Given the description of an element on the screen output the (x, y) to click on. 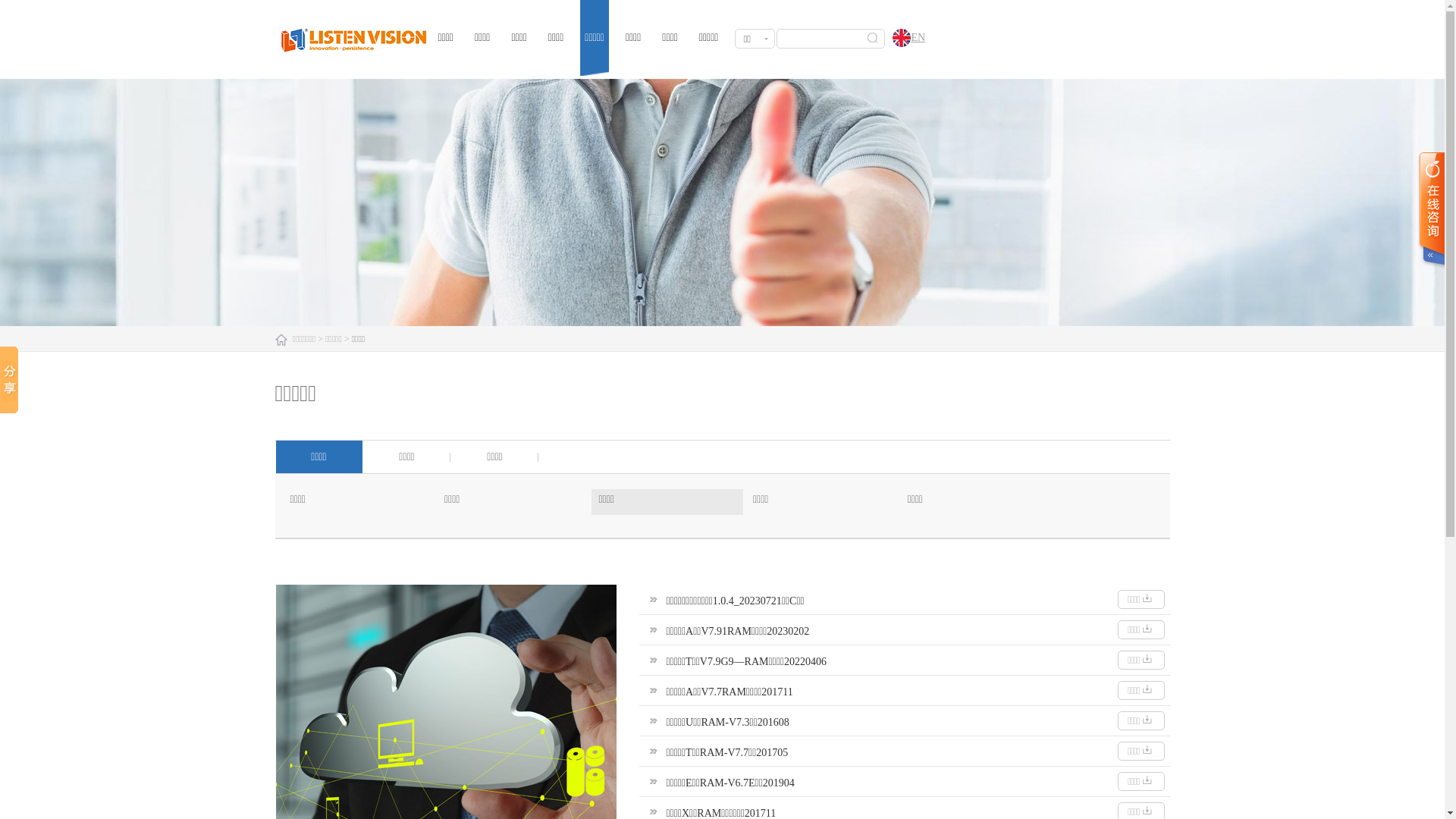
EN Element type: text (904, 39)
  Element type: text (1430, 210)
